Given the description of an element on the screen output the (x, y) to click on. 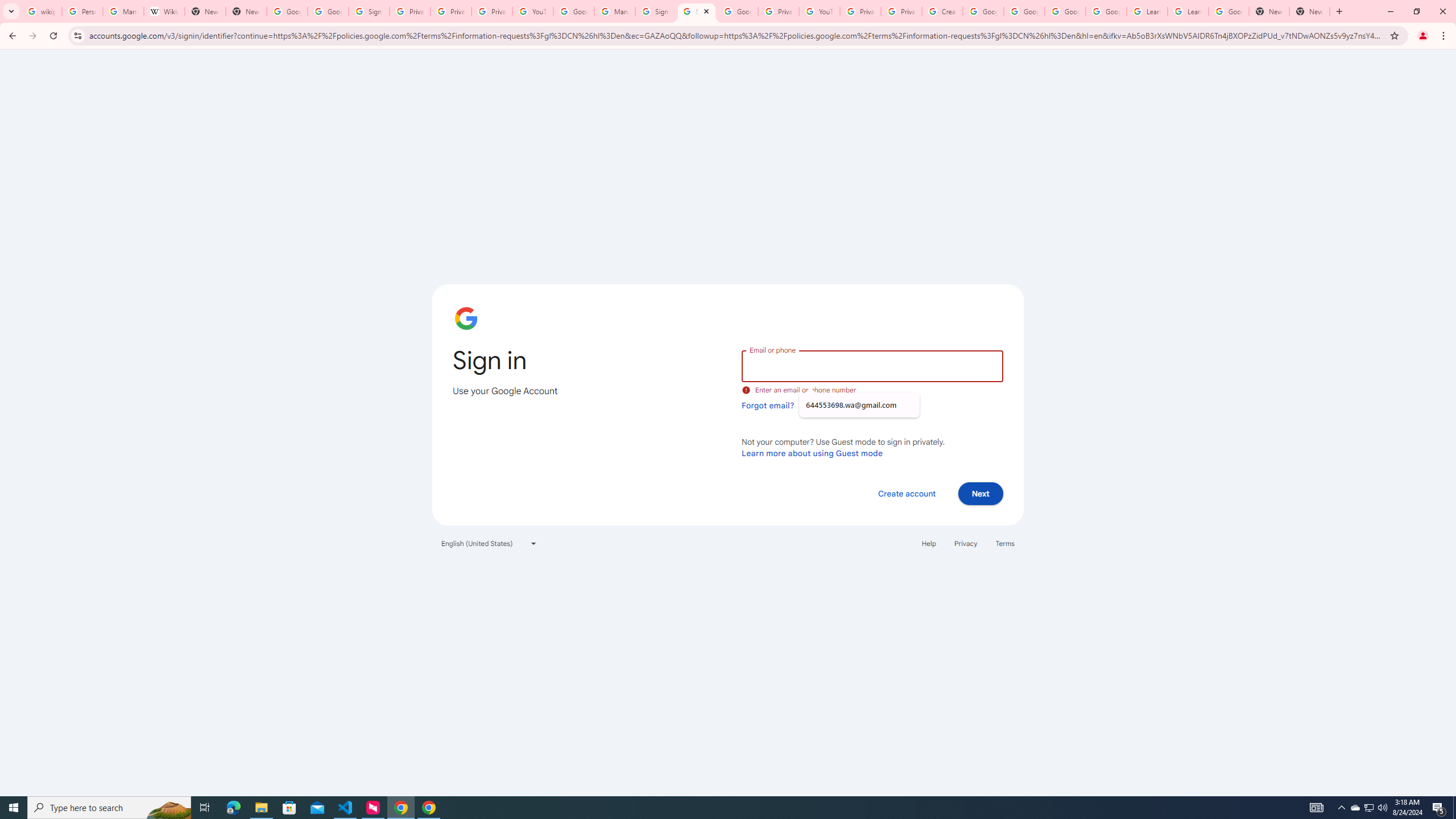
YouTube (818, 11)
Google Account Help (1023, 11)
Email or phone (871, 365)
Personalization & Google Search results - Google Search Help (81, 11)
Sign in - Google Accounts (696, 11)
644553698.wa@gmail.com (858, 404)
Google Account Help (573, 11)
Manage your Location History - Google Search Help (122, 11)
